Given the description of an element on the screen output the (x, y) to click on. 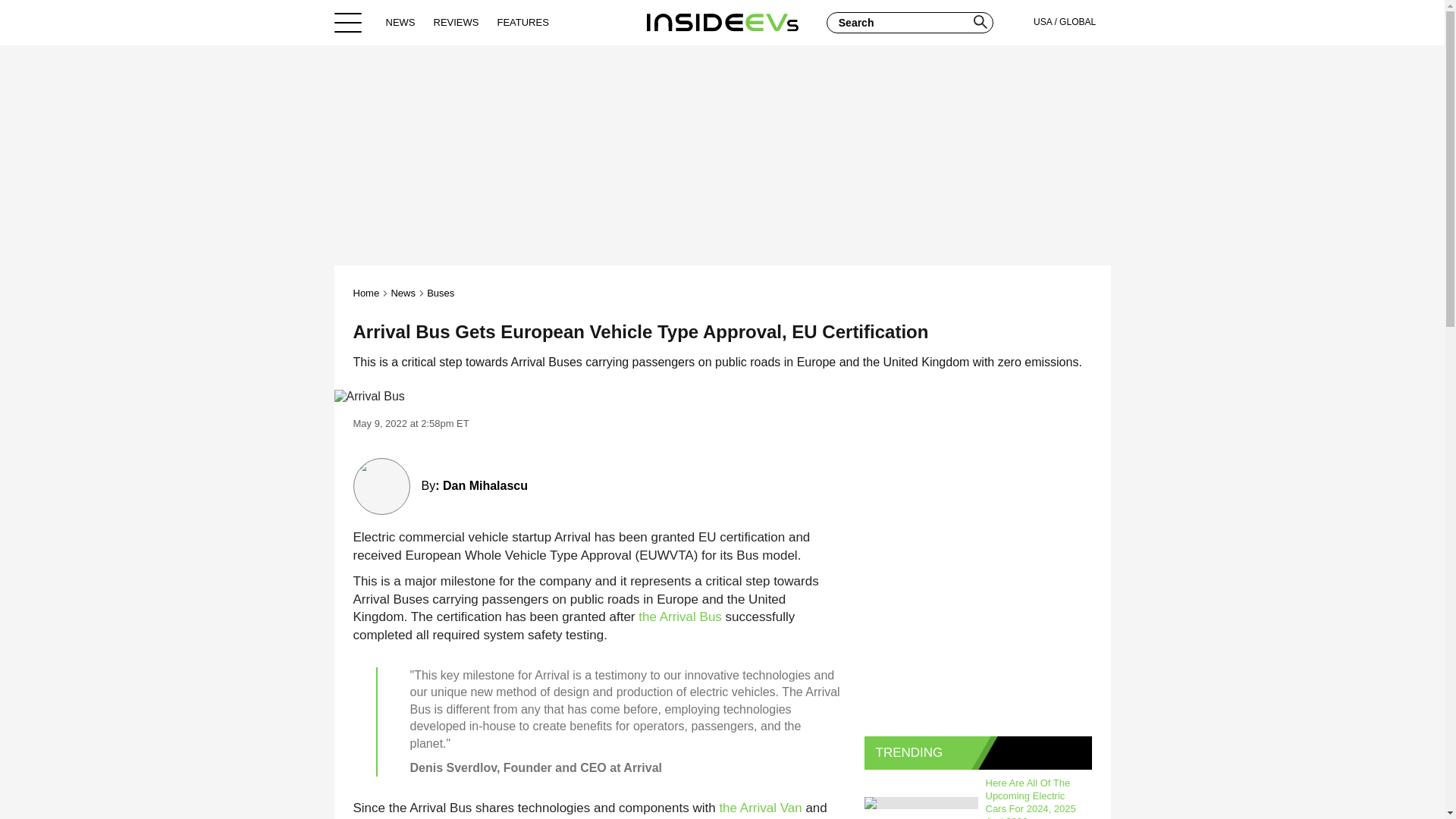
NEWS (399, 22)
FEATURES (522, 22)
the Arrival Bus (680, 616)
Home (721, 22)
Dan Mihalascu (484, 485)
the Arrival Van (760, 807)
REVIEWS (456, 22)
Buses (440, 292)
News (402, 292)
Home (366, 293)
